Given the description of an element on the screen output the (x, y) to click on. 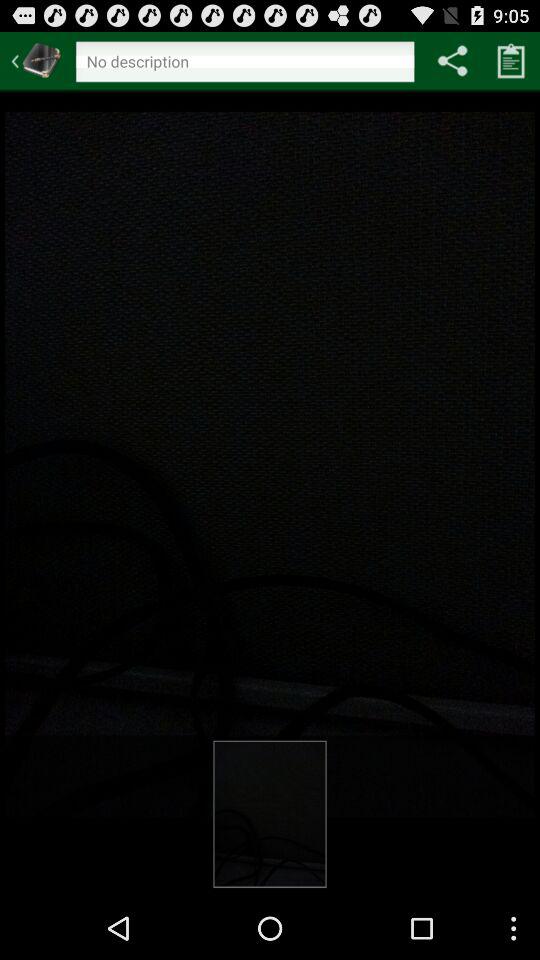
copy (511, 60)
